Given the description of an element on the screen output the (x, y) to click on. 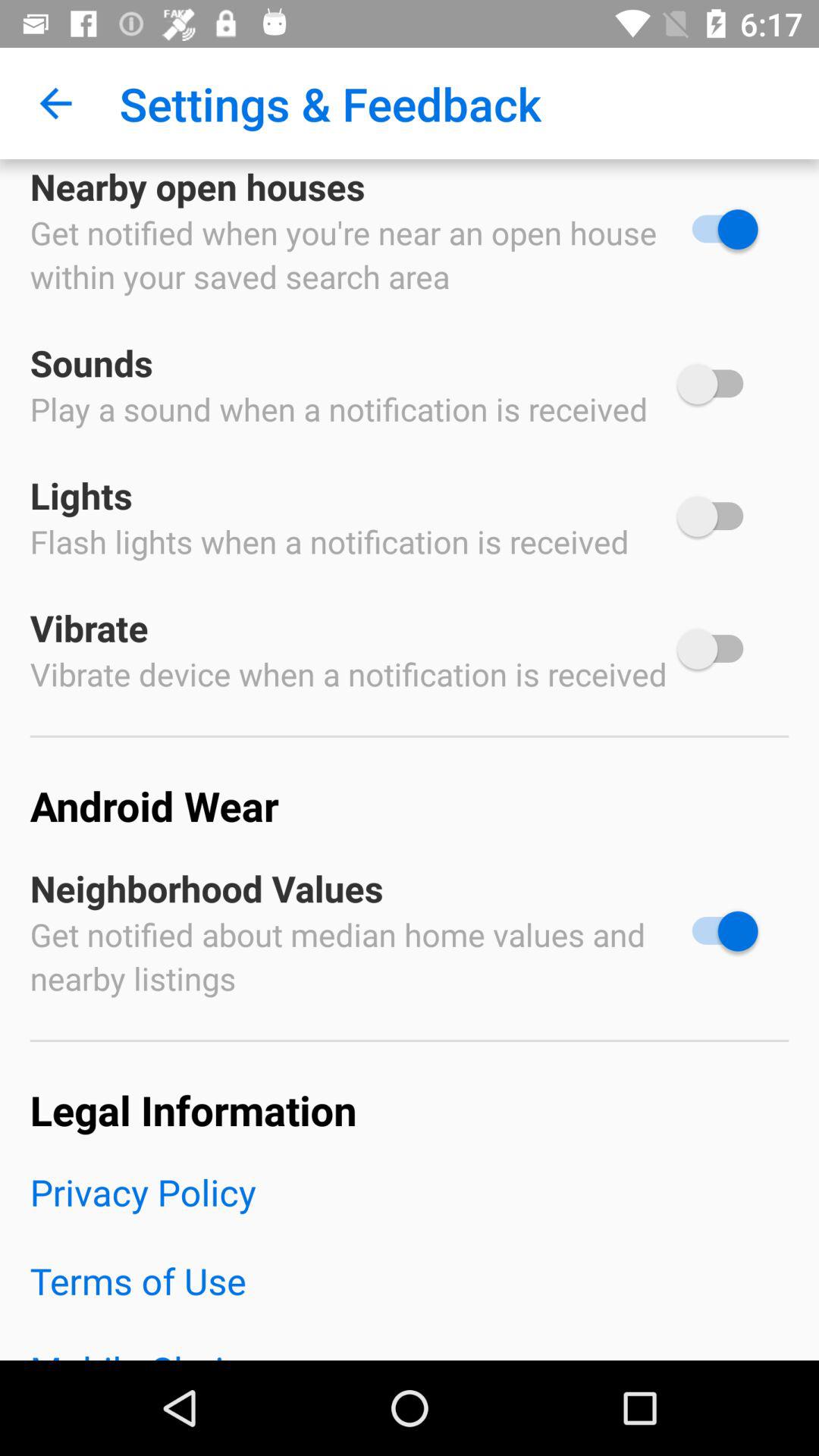
switch sound option (717, 384)
